Given the description of an element on the screen output the (x, y) to click on. 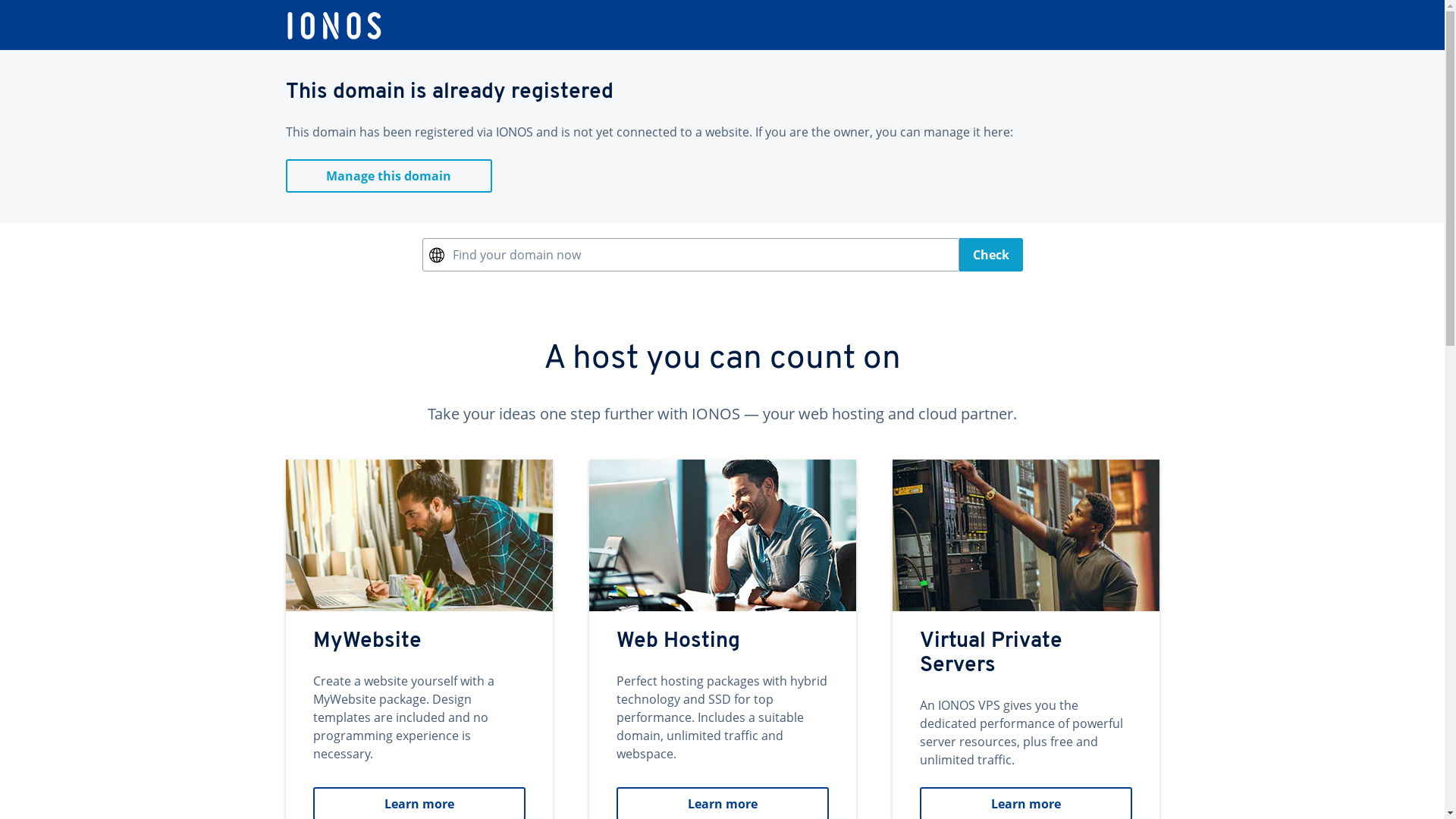
Manage this domain Element type: text (388, 175)
Check Element type: text (990, 254)
